Given the description of an element on the screen output the (x, y) to click on. 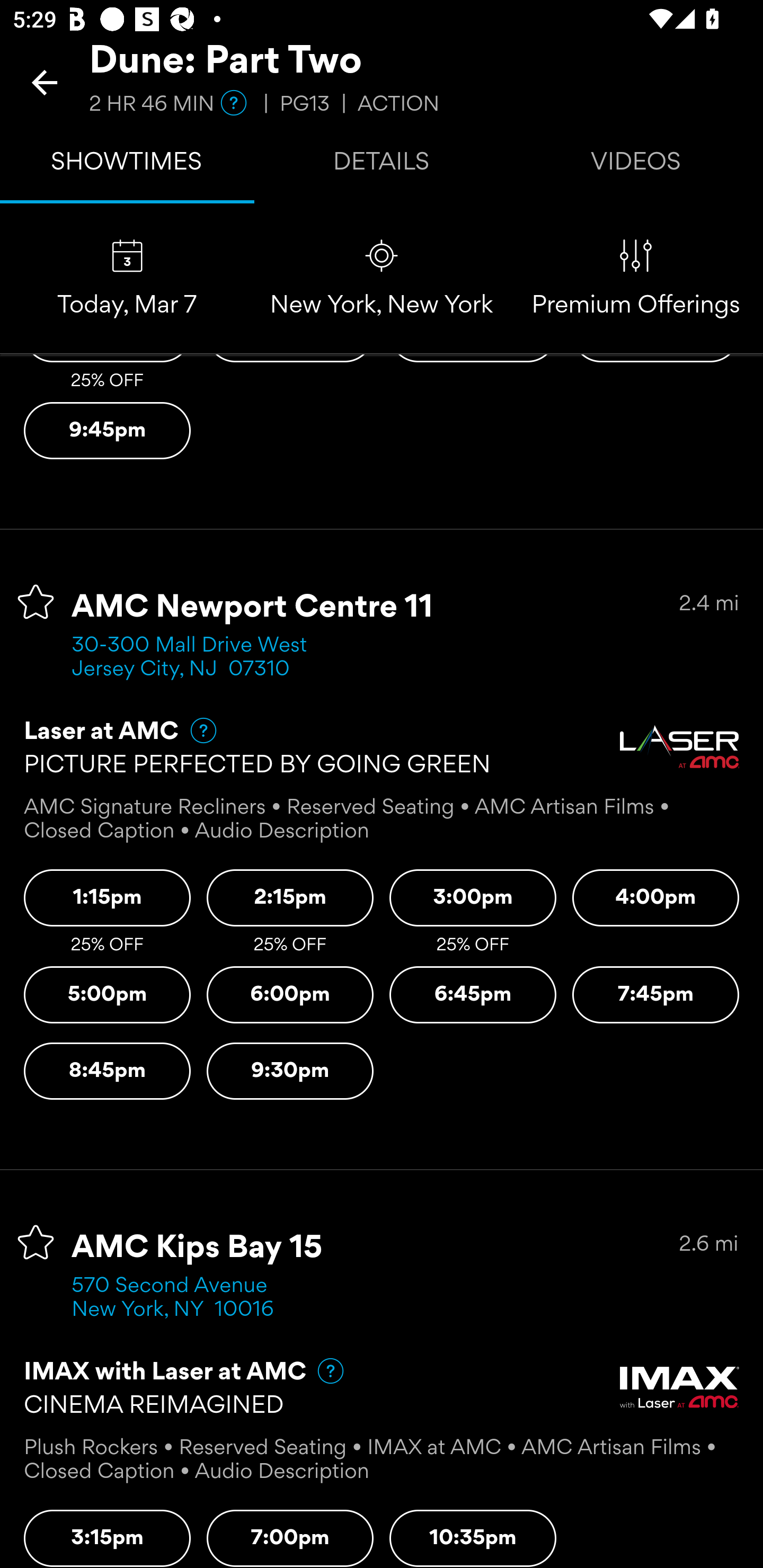
Back (44, 82)
SHOWTIMES
Tab 1 of 3 (127, 165)
DETAILS
Tab 2 of 3 (381, 165)
VIDEOS
Tab 3 of 3 (635, 165)
Change selected day
Today, Mar 7 (127, 279)
Change location
New York, New York (381, 279)
Premium Offerings
Premium Offerings (635, 279)
AMC Newport Centre 11 (252, 607)
30-300 Mall Drive West  
Jersey City, NJ  07310 (195, 657)
Help (195, 730)
AMC Kips Bay 15 (196, 1247)
570 Second Avenue  
New York, NY  10016 (175, 1297)
Help (322, 1370)
